Given the description of an element on the screen output the (x, y) to click on. 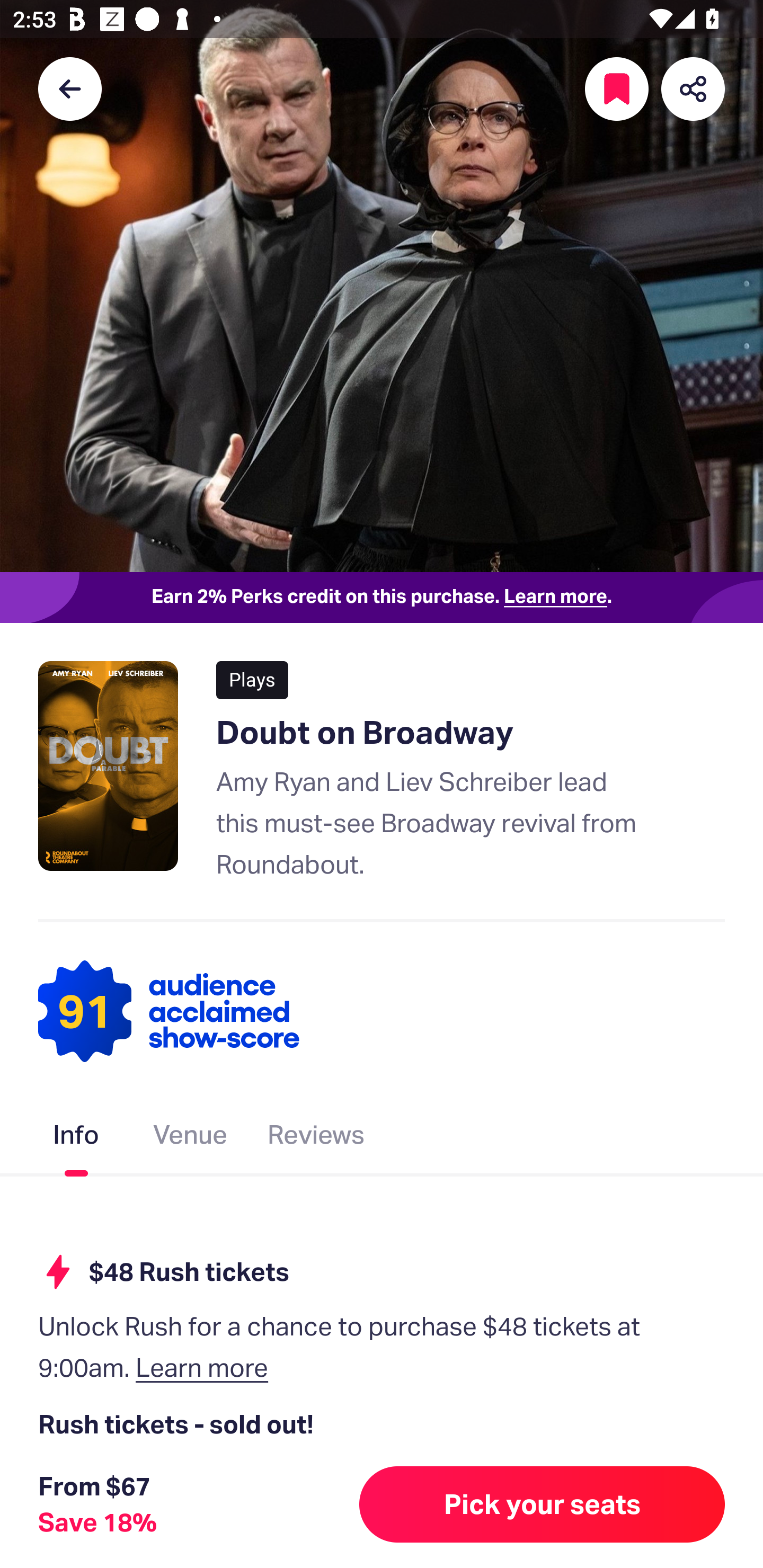
Earn 2% Perks credit on this purchase. Learn more. (381, 597)
Venue (190, 1138)
Reviews (315, 1138)
Pick your seats (541, 1504)
Unlock now (328, 1514)
